Given the description of an element on the screen output the (x, y) to click on. 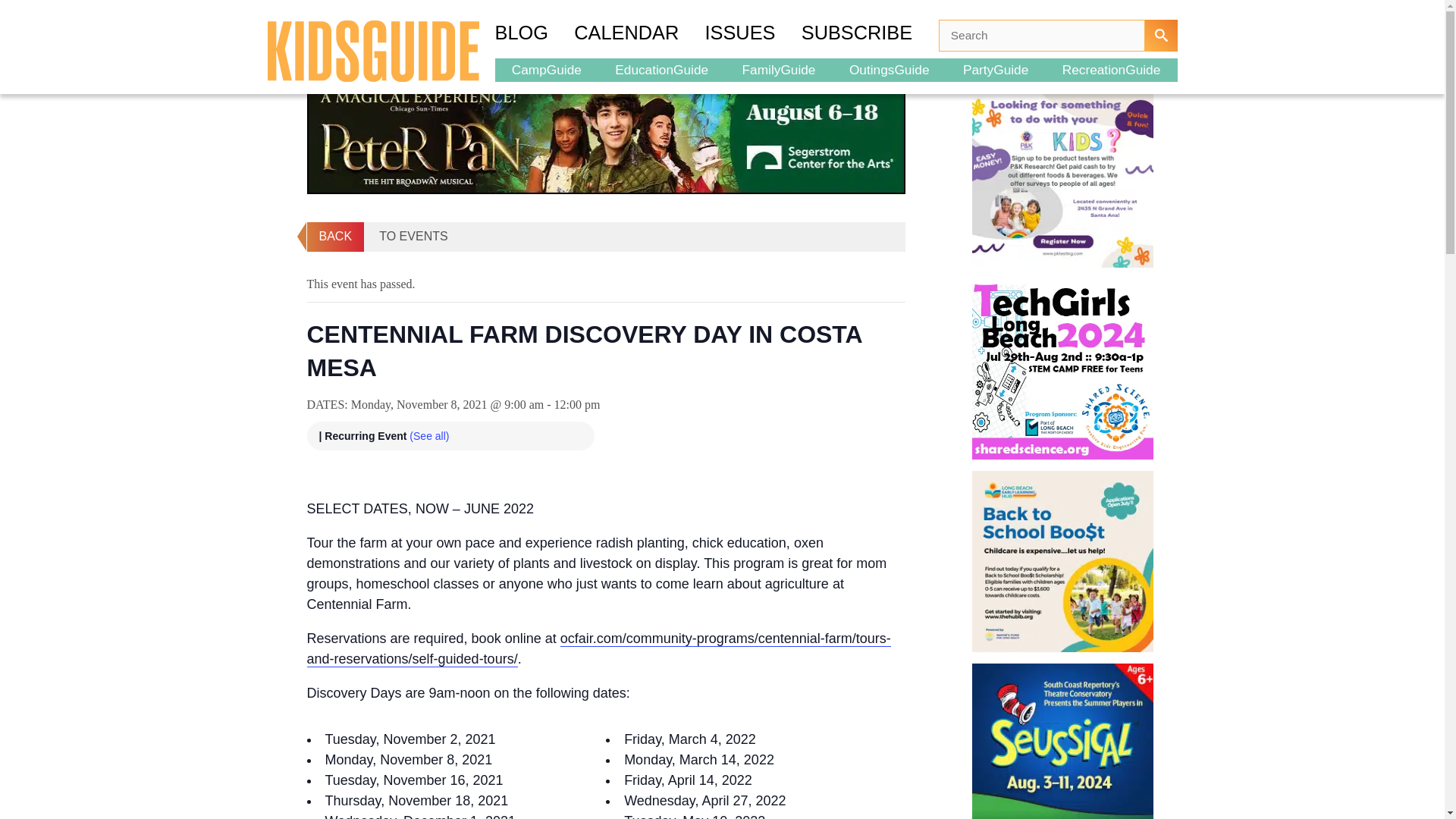
CALENDAR (638, 35)
EducationGuide (661, 69)
CampGuide (546, 69)
GO (1160, 35)
BLOG (534, 35)
ISSUES (753, 35)
SUBSCRIBE (870, 35)
FamilyGuide (778, 69)
OutingsGuide (889, 69)
